Given the description of an element on the screen output the (x, y) to click on. 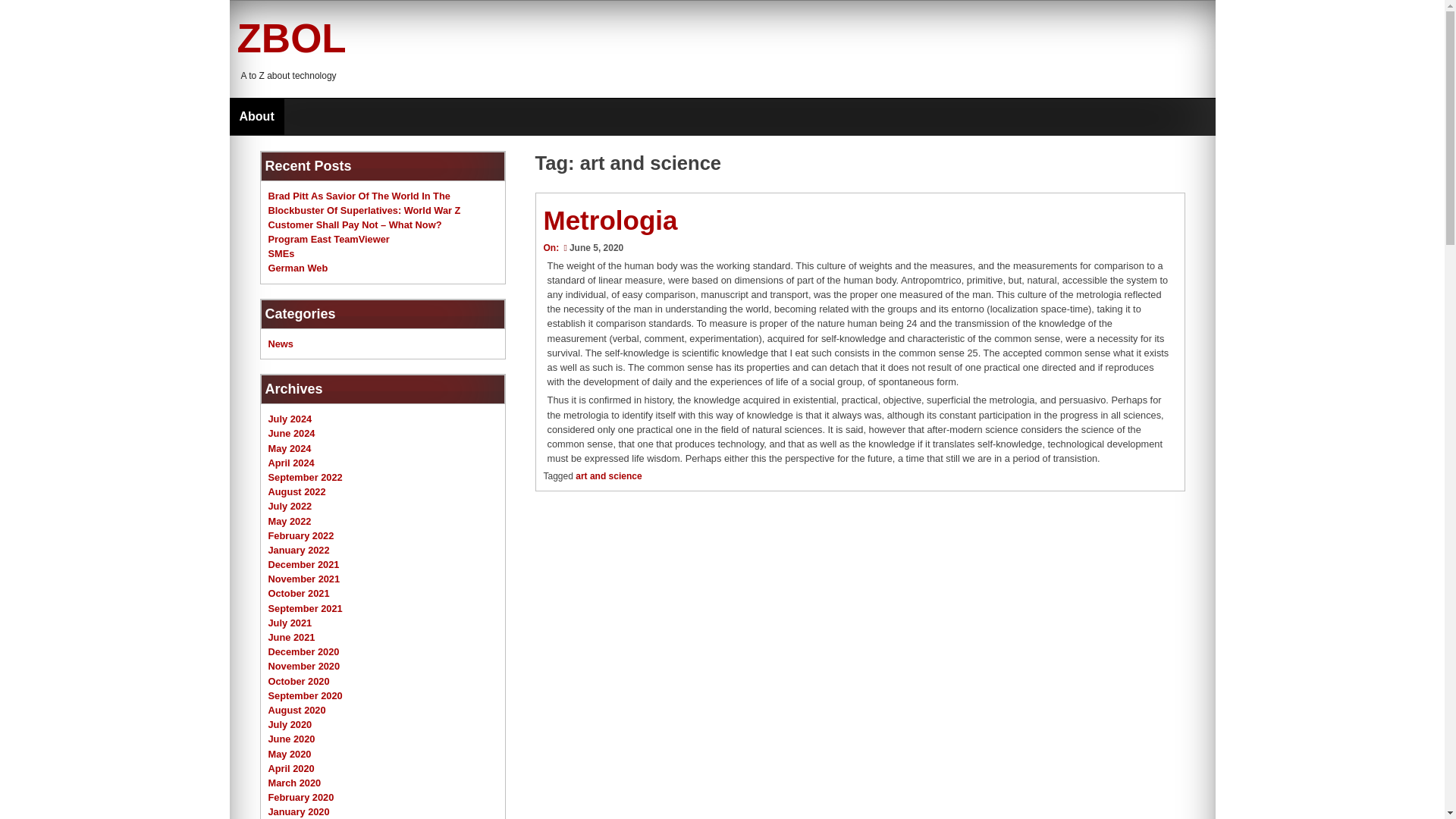
September 2020 (304, 695)
September 2021 (304, 608)
October 2021 (298, 593)
February 2022 (300, 535)
March 2020 (294, 782)
December 2021 (303, 564)
April 2020 (290, 767)
June 2020 (291, 738)
SMEs (281, 253)
February 2020 (300, 797)
Metrologia (610, 220)
art and science (608, 475)
August 2022 (296, 491)
September 2022 (304, 477)
August 2020 (296, 709)
